Given the description of an element on the screen output the (x, y) to click on. 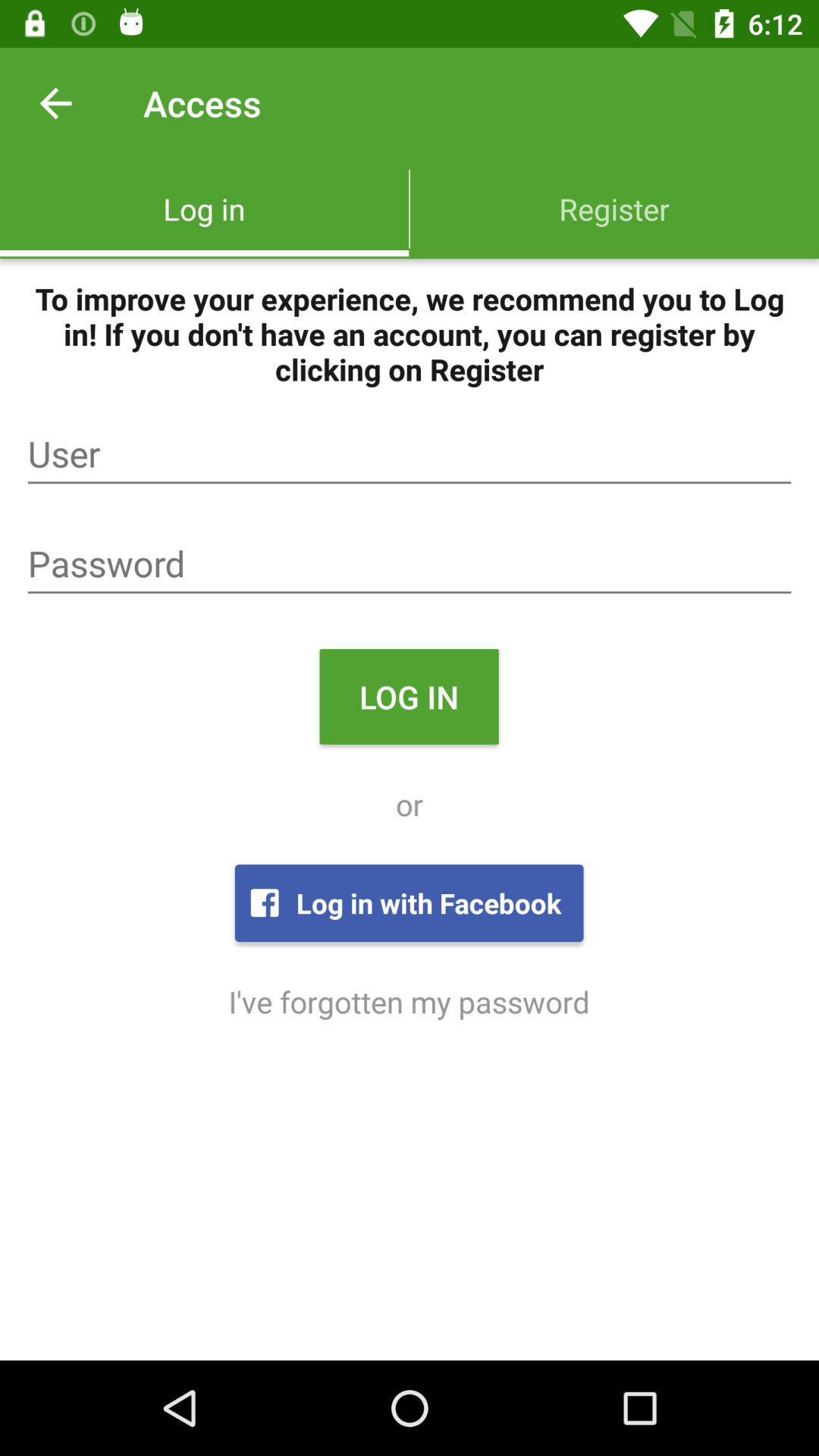
select icon below the log in with icon (408, 1001)
